Given the description of an element on the screen output the (x, y) to click on. 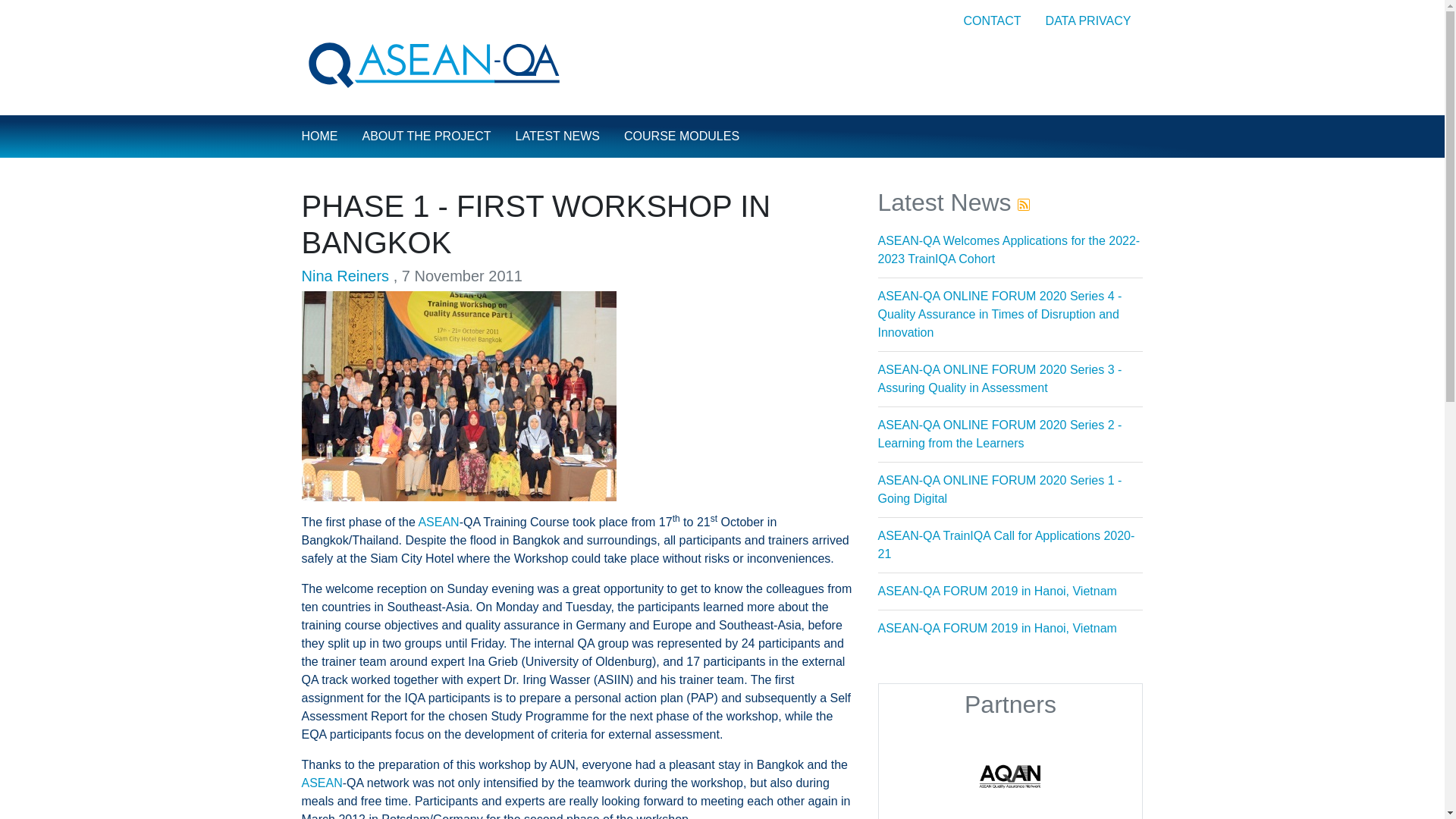
ABOUT THE PROJECT (426, 135)
ASEAN-QA FORUM 2019 in Hanoi, Vietnam (996, 590)
HOME (319, 136)
Latest news (557, 135)
Course Modules (681, 135)
Contact (991, 20)
CONTACT (991, 20)
COURSE MODULES (681, 135)
ASEAN-QA ONLINE FORUM 2020 Series 1 - Going Digital (999, 489)
ASEAN-QA TrainIQA Call for Applications 2020-21 (1006, 544)
Subscribe to weblog (1023, 202)
Data privacy (1087, 20)
DATA PRIVACY (1087, 20)
